Given the description of an element on the screen output the (x, y) to click on. 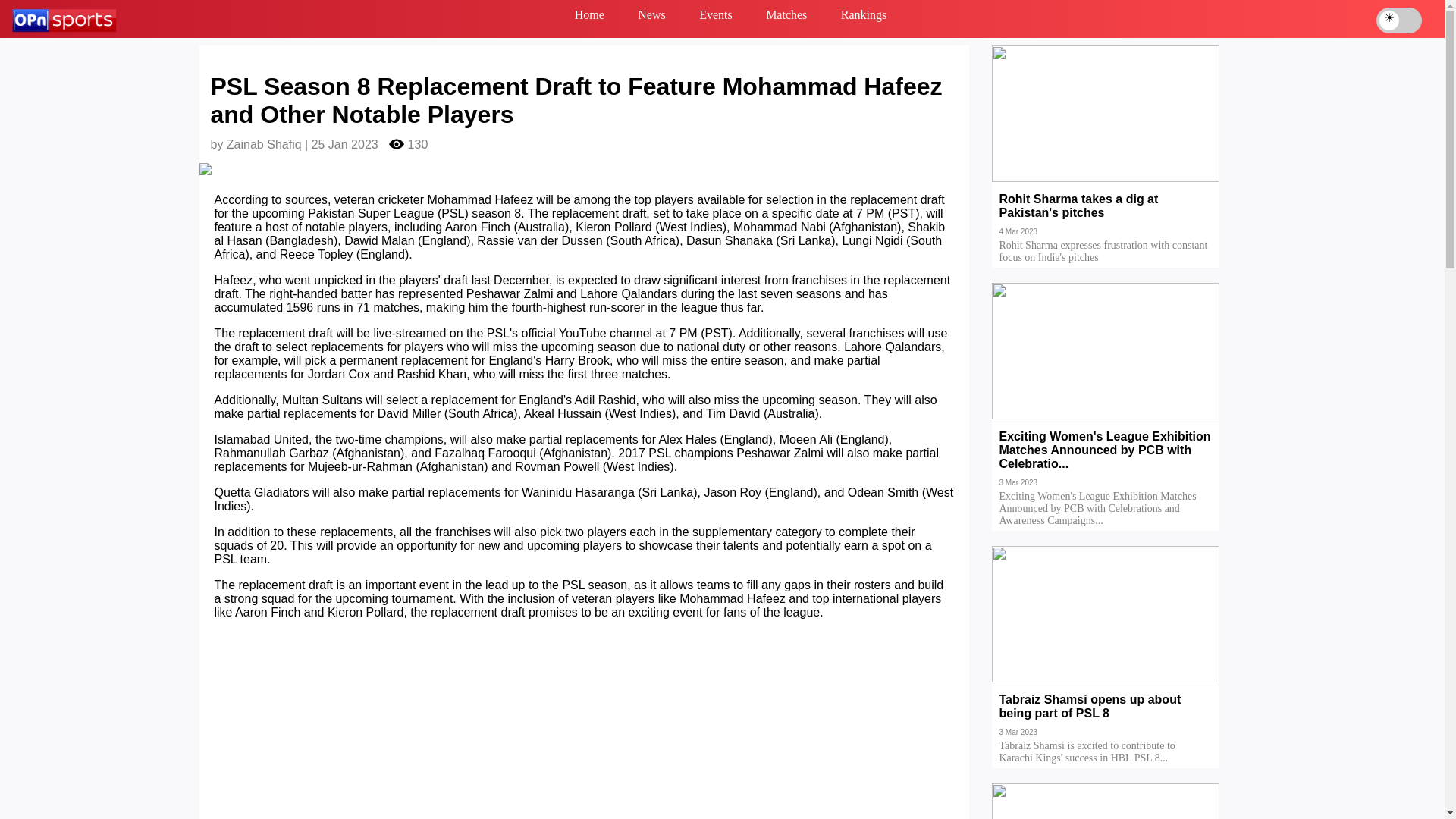
Events (715, 19)
Rankings (862, 19)
Rohit Sharma takes a dig at Pakistan's pitches (1105, 216)
News (651, 19)
Tabraiz Shamsi opens up about being part of PSL 8 (1105, 717)
Home (589, 19)
Matches (785, 19)
